Given the description of an element on the screen output the (x, y) to click on. 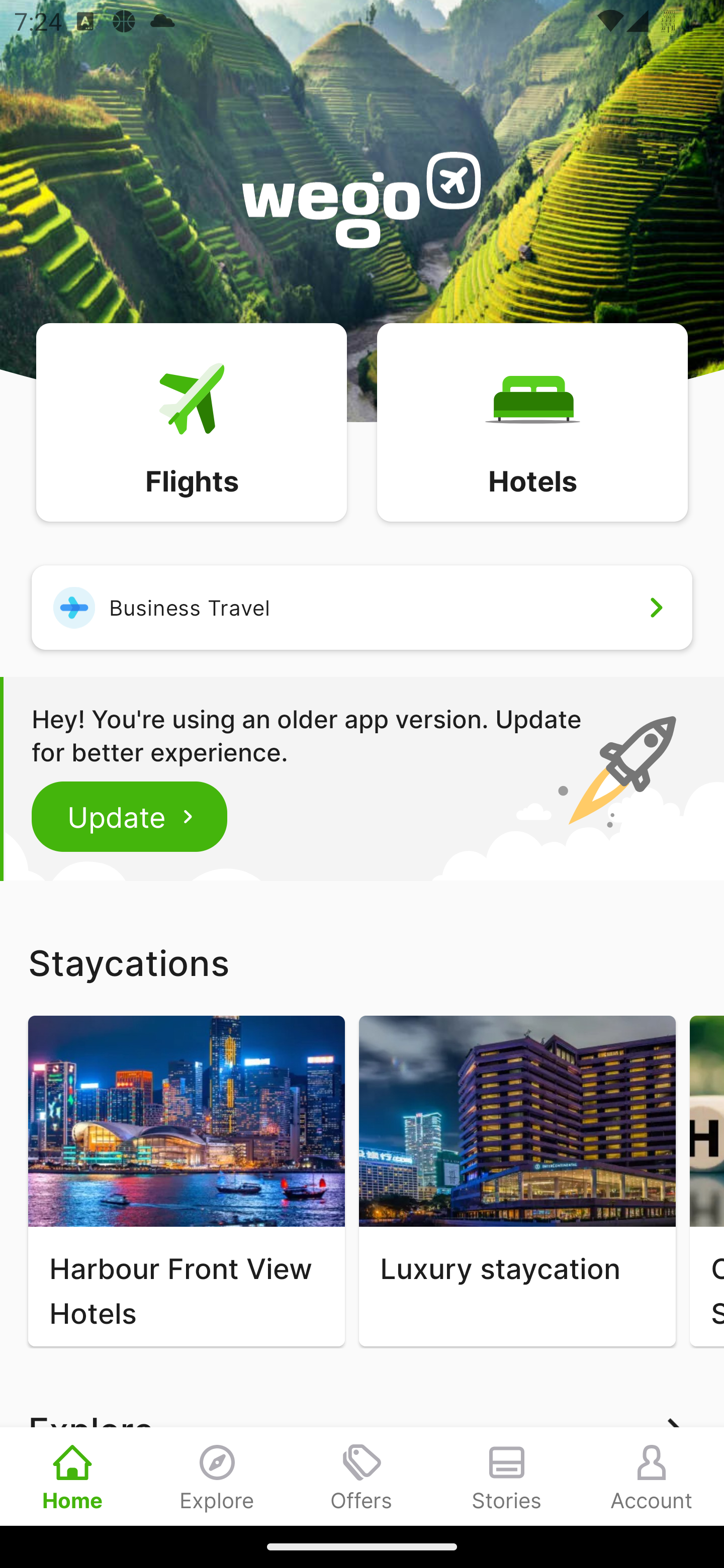
Flights (191, 420)
Hotels (532, 420)
Business Travel (361, 607)
Update (129, 815)
Staycations (362, 962)
Harbour Front View Hotels (186, 1181)
Luxury staycation (517, 1181)
Explore (216, 1475)
Offers (361, 1475)
Stories (506, 1475)
Account (651, 1475)
